Given the description of an element on the screen output the (x, y) to click on. 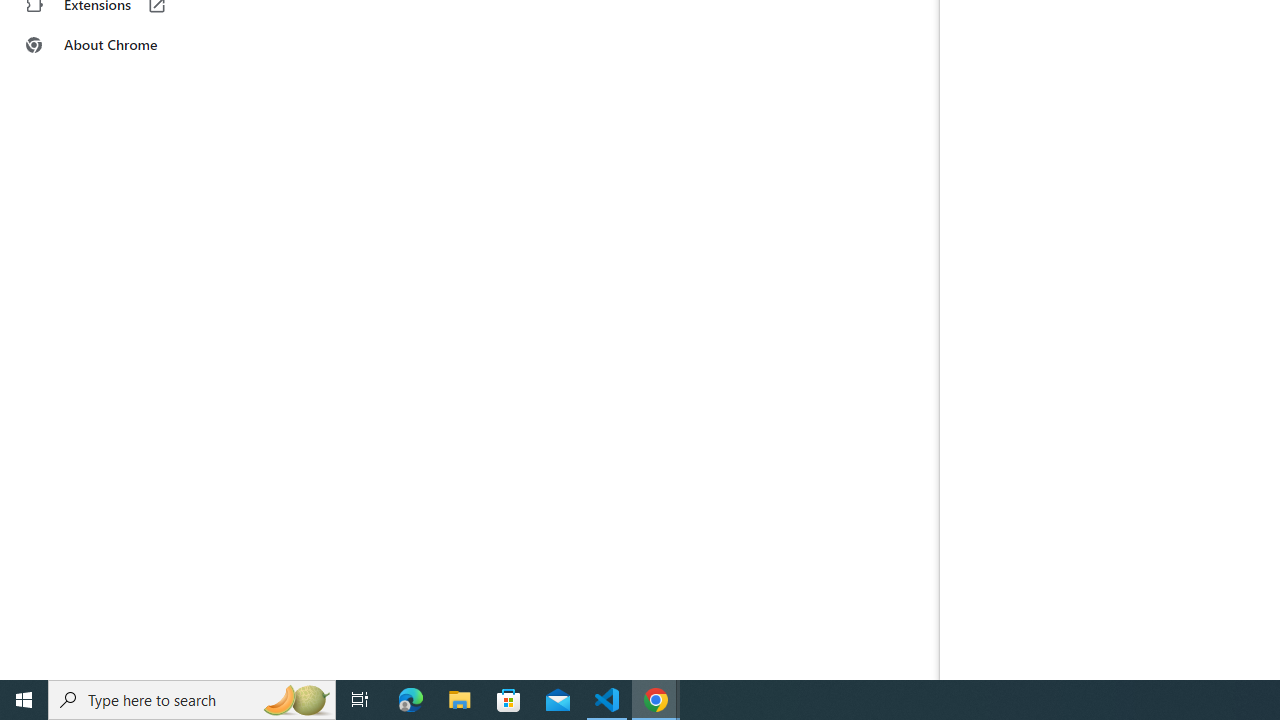
About Chrome (124, 44)
